Given the description of an element on the screen output the (x, y) to click on. 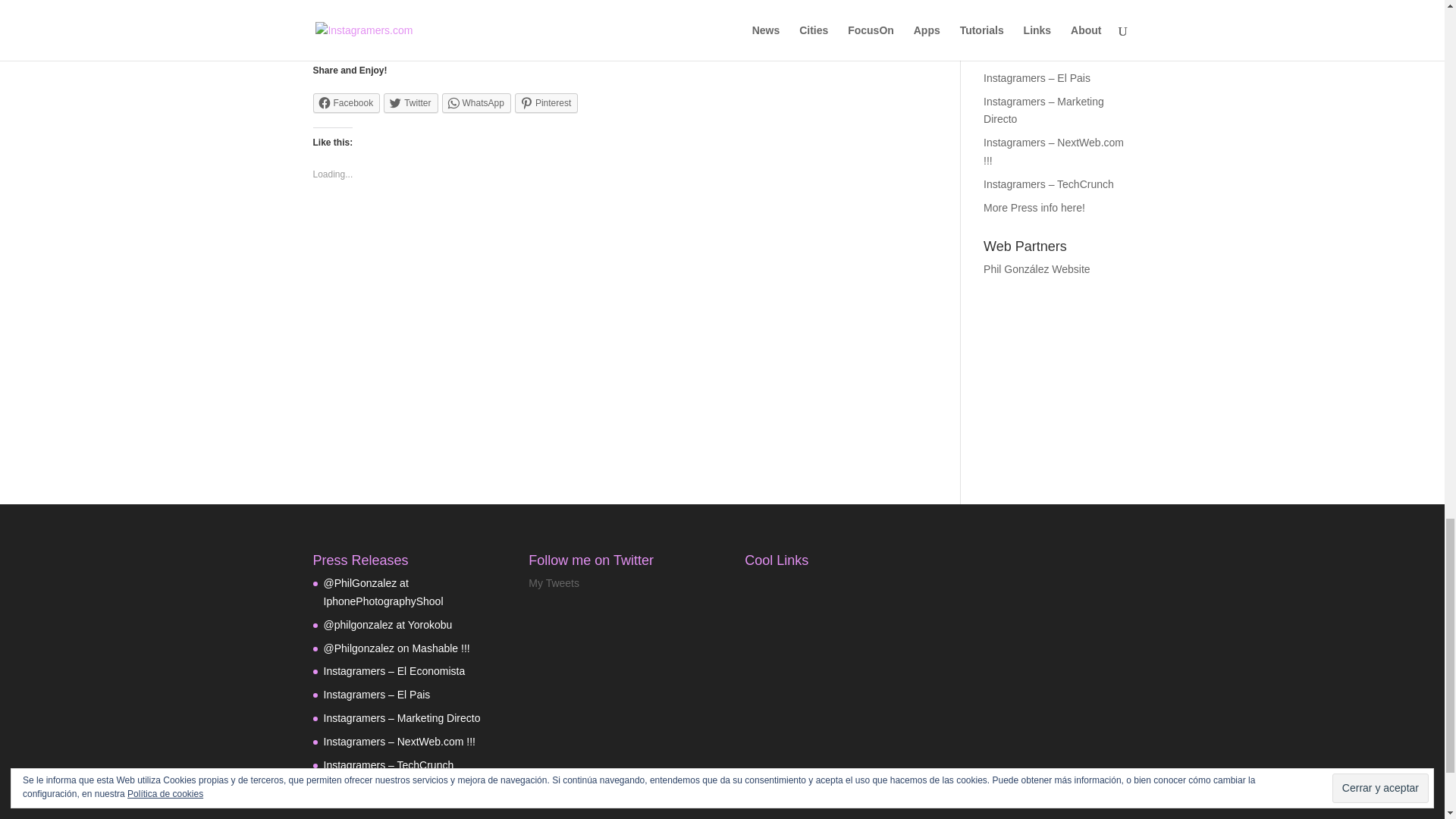
Click to share on Pinterest (546, 103)
Instagramers Marketing directo (1043, 110)
Click to share on Twitter (411, 103)
Instagramers en Yorokobu (1048, 7)
Click to share on WhatsApp (476, 103)
Copygram and Instagramers at TechCrunch (1048, 184)
Pinterest (546, 103)
Facebook (346, 103)
instagramers en El economista (1054, 54)
Twitter (411, 103)
